Given the description of an element on the screen output the (x, y) to click on. 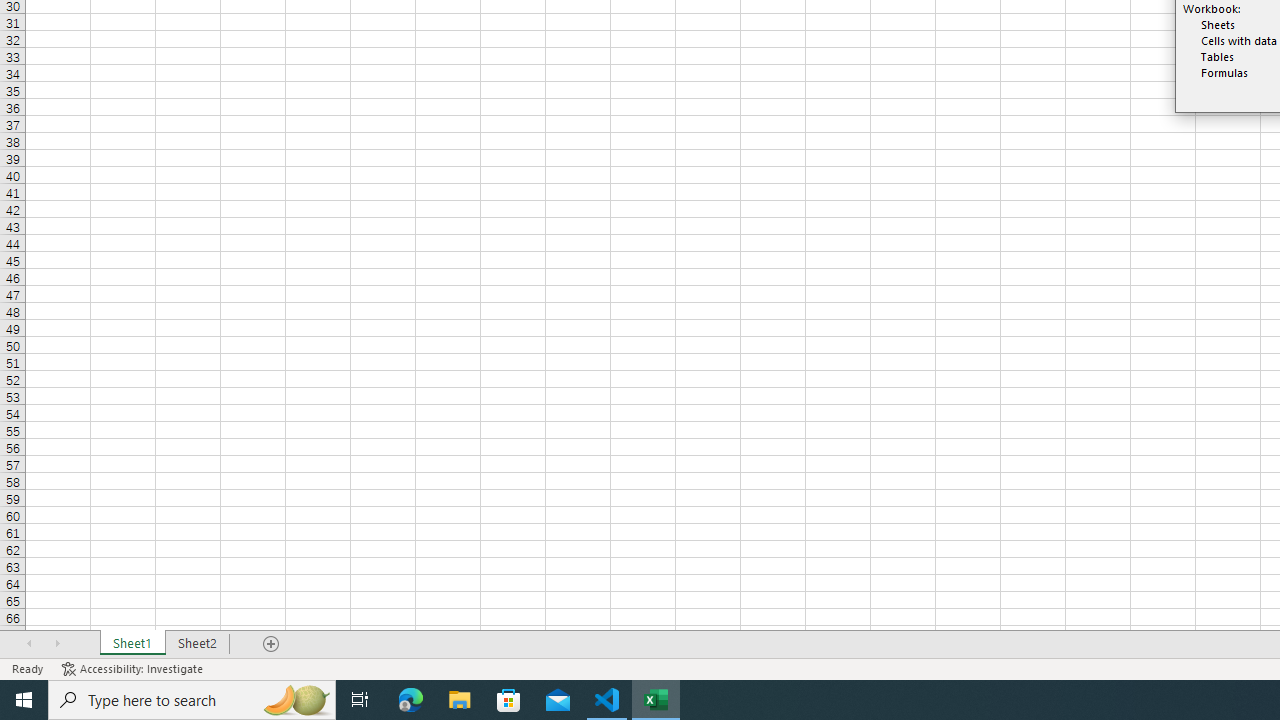
Microsoft Store (509, 699)
